Given the description of an element on the screen output the (x, y) to click on. 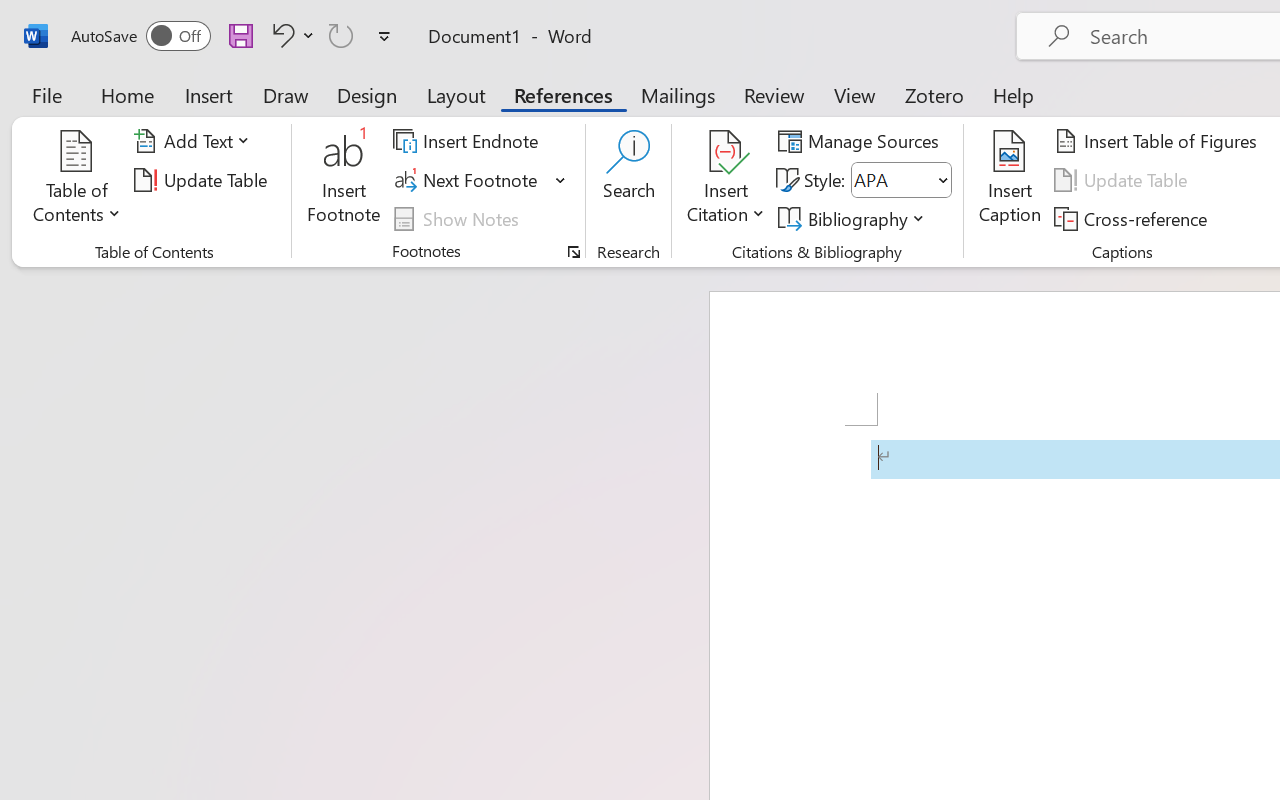
Footnote and Endnote Dialog... (573, 252)
Cross-reference... (1133, 218)
Next Footnote (479, 179)
Next Footnote (468, 179)
Style (901, 179)
